Given the description of an element on the screen output the (x, y) to click on. 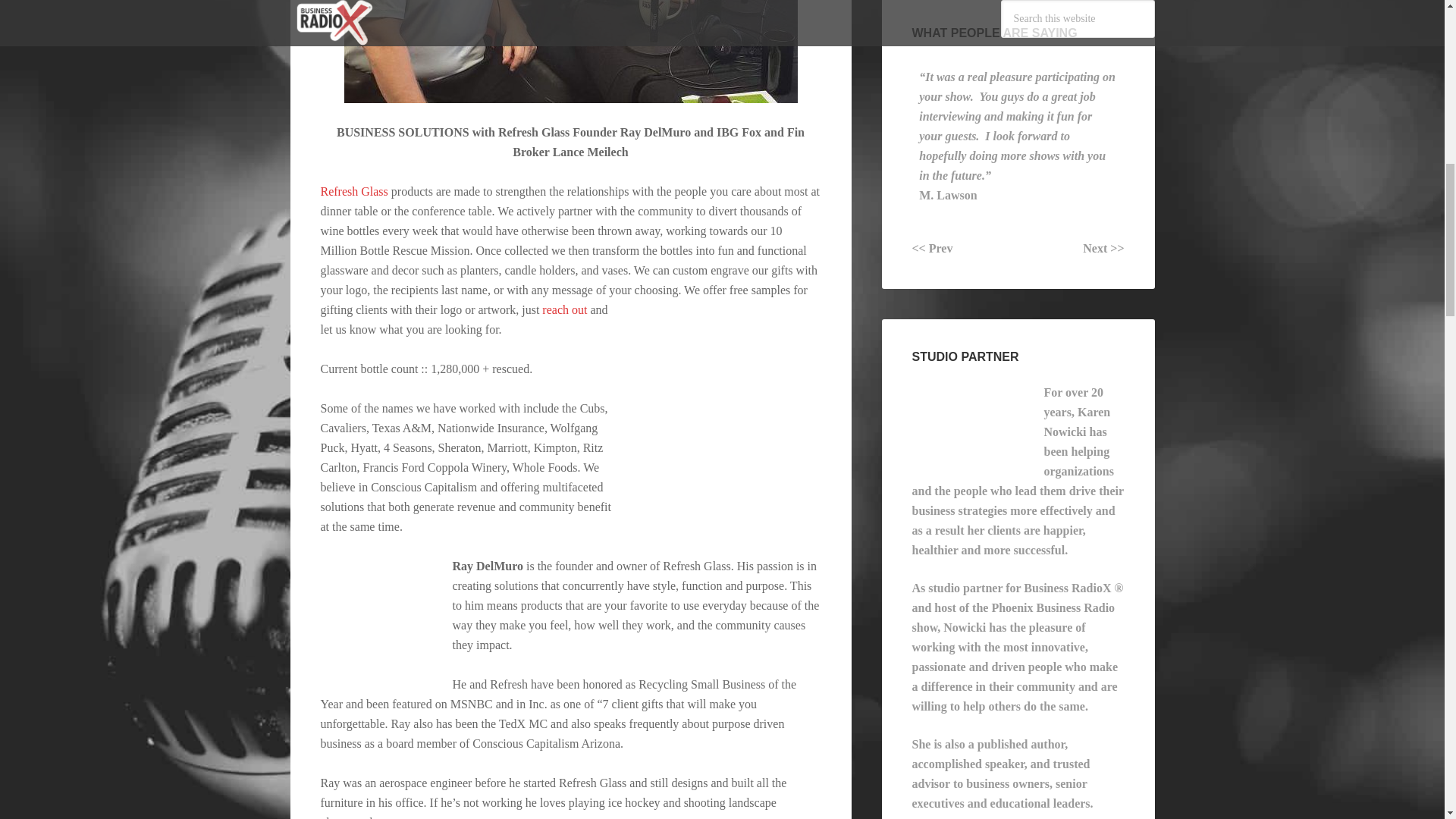
Karen Nowicki (968, 420)
Ray-DelMuro-on-Business-RadioX (376, 613)
